Given the description of an element on the screen output the (x, y) to click on. 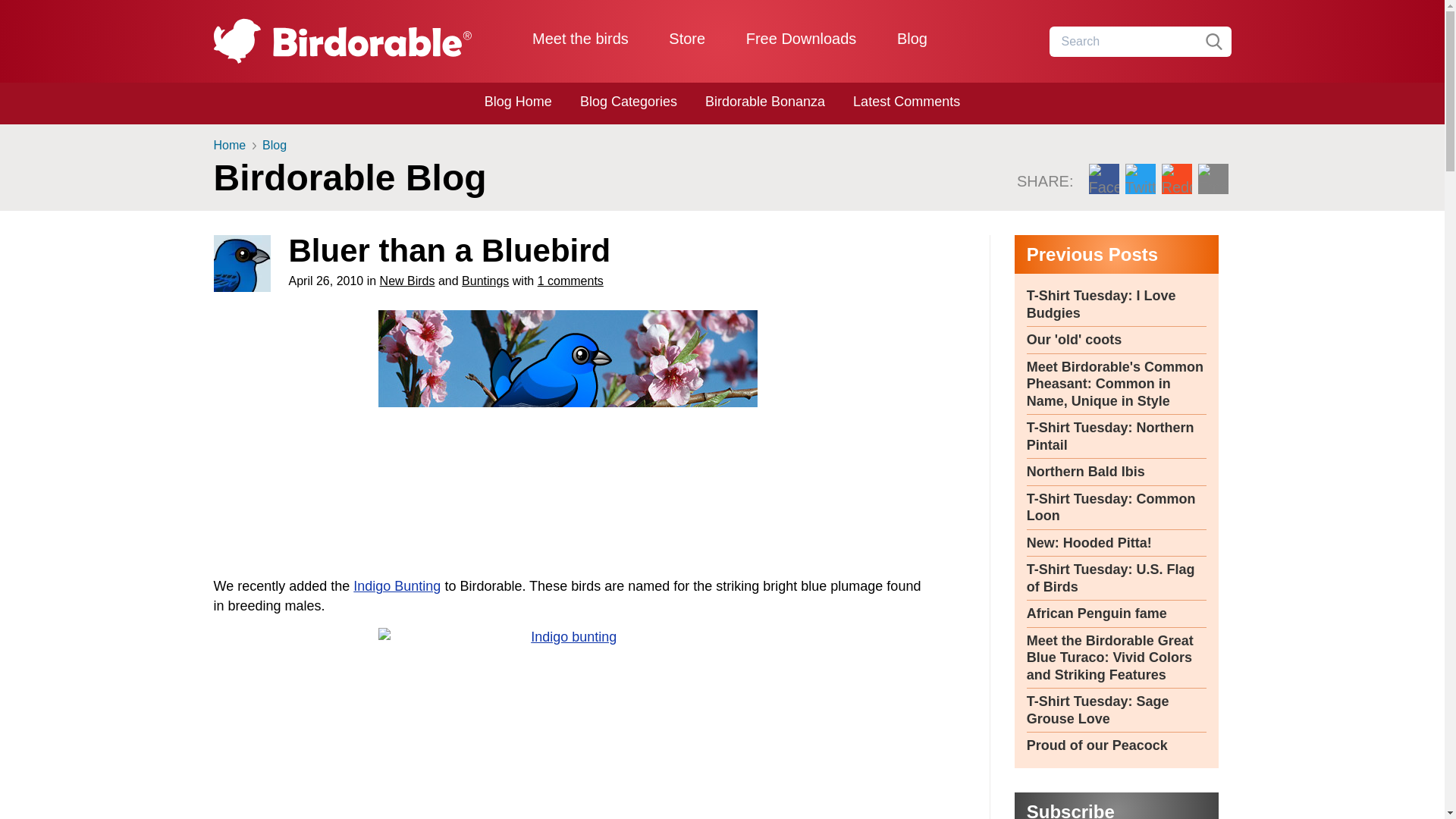
Free Downloads (801, 38)
Store (686, 38)
Meet the birds (580, 38)
Blog (911, 38)
Blog Home (517, 101)
